Given the description of an element on the screen output the (x, y) to click on. 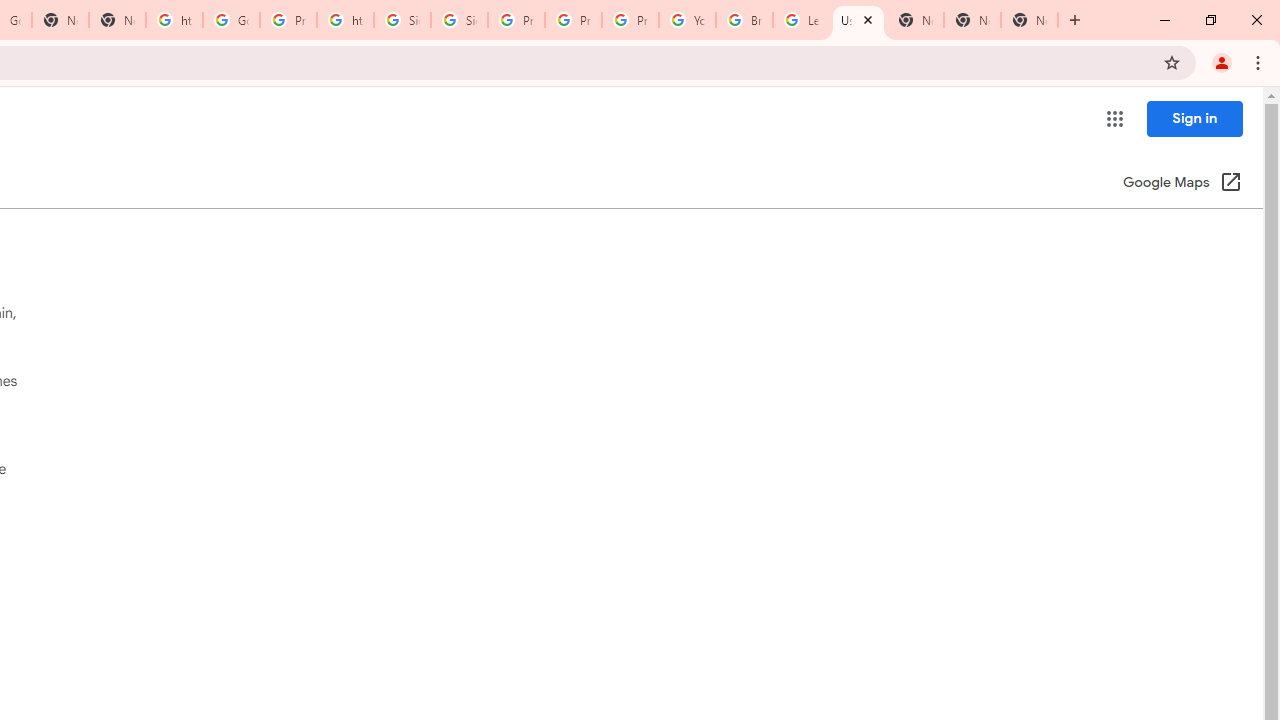
Sign in - Google Accounts (459, 20)
https://scholar.google.com/ (345, 20)
Sign in - Google Accounts (402, 20)
Google Maps (Open in a new window) (1182, 183)
New Tab (971, 20)
